Given the description of an element on the screen output the (x, y) to click on. 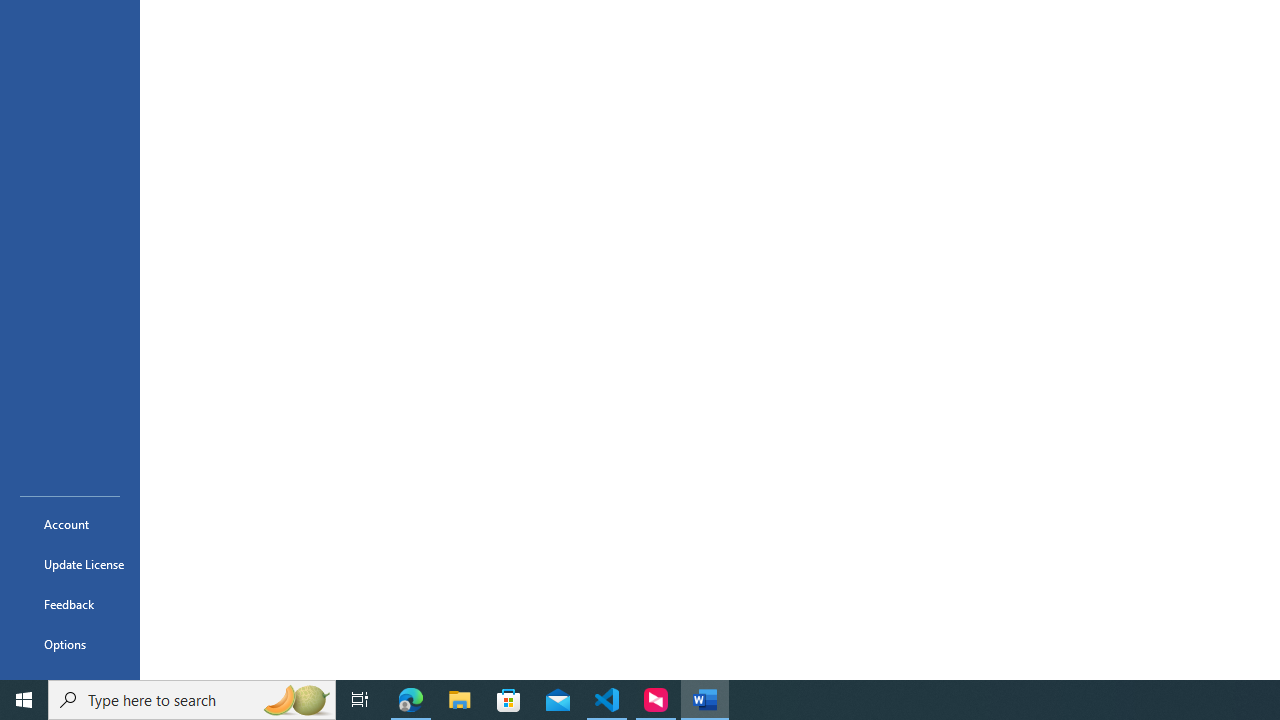
Feedback (69, 603)
Account (69, 523)
Options (69, 643)
Update License (69, 563)
